Given the description of an element on the screen output the (x, y) to click on. 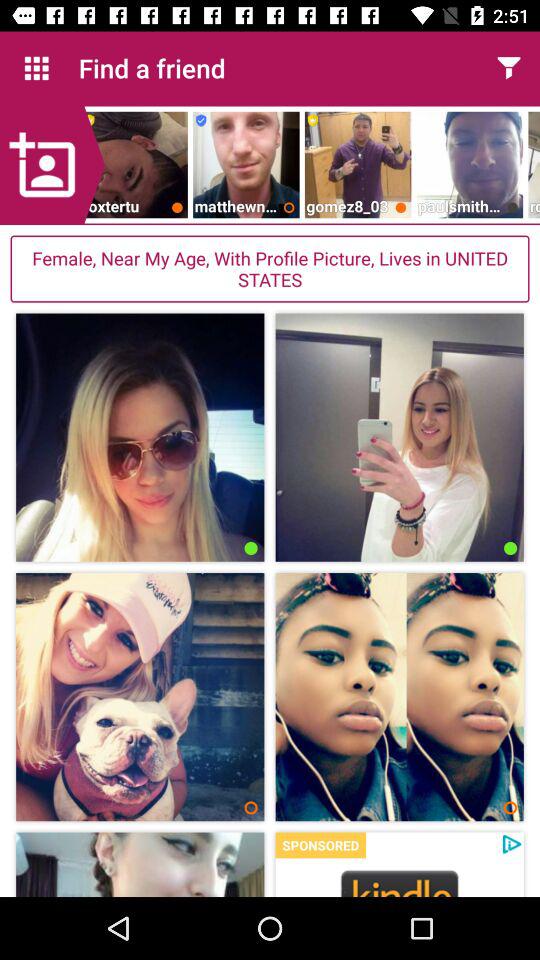
fillter option (508, 67)
